Given the description of an element on the screen output the (x, y) to click on. 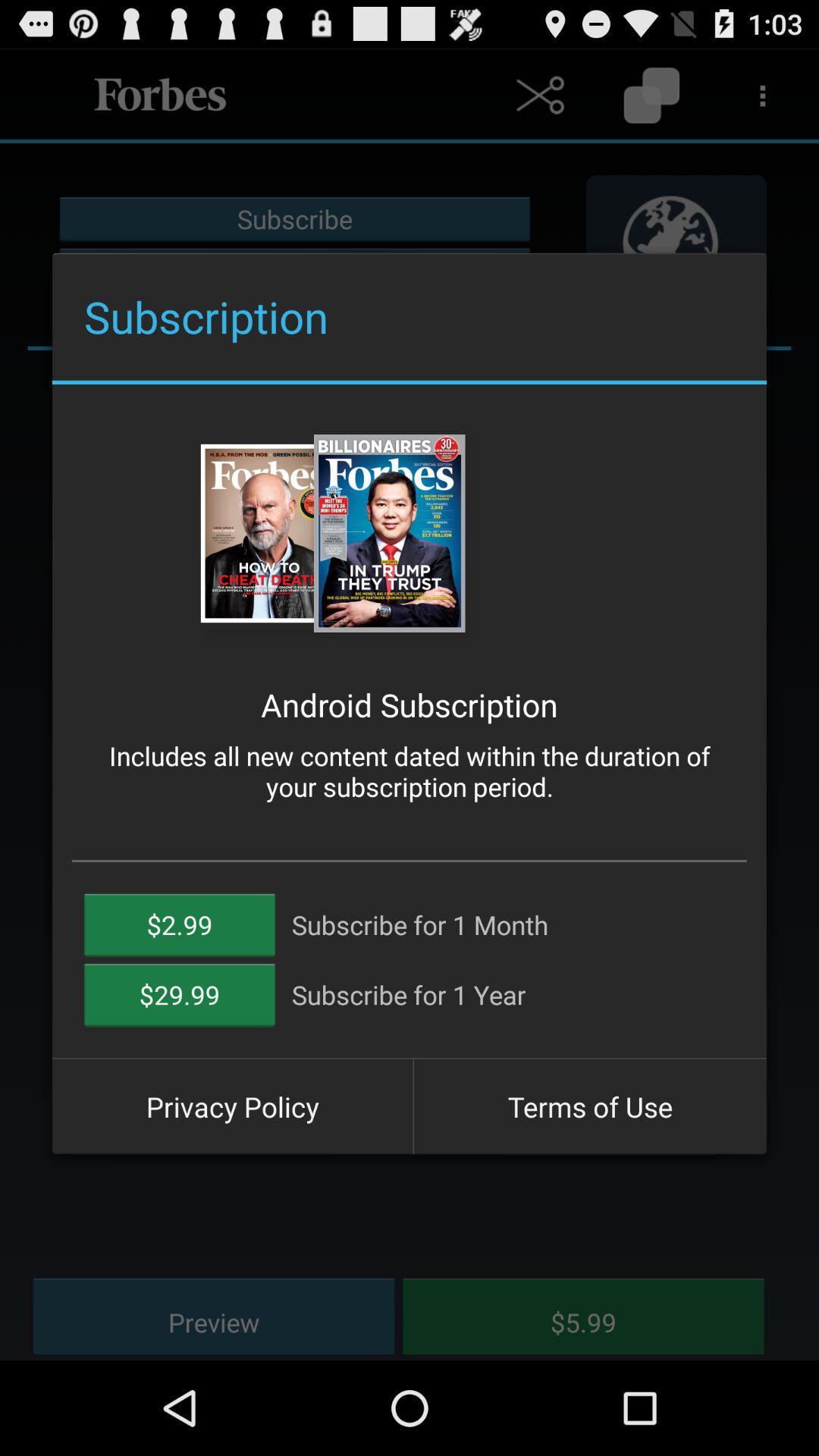
scroll to the privacy policy button (232, 1106)
